Given the description of an element on the screen output the (x, y) to click on. 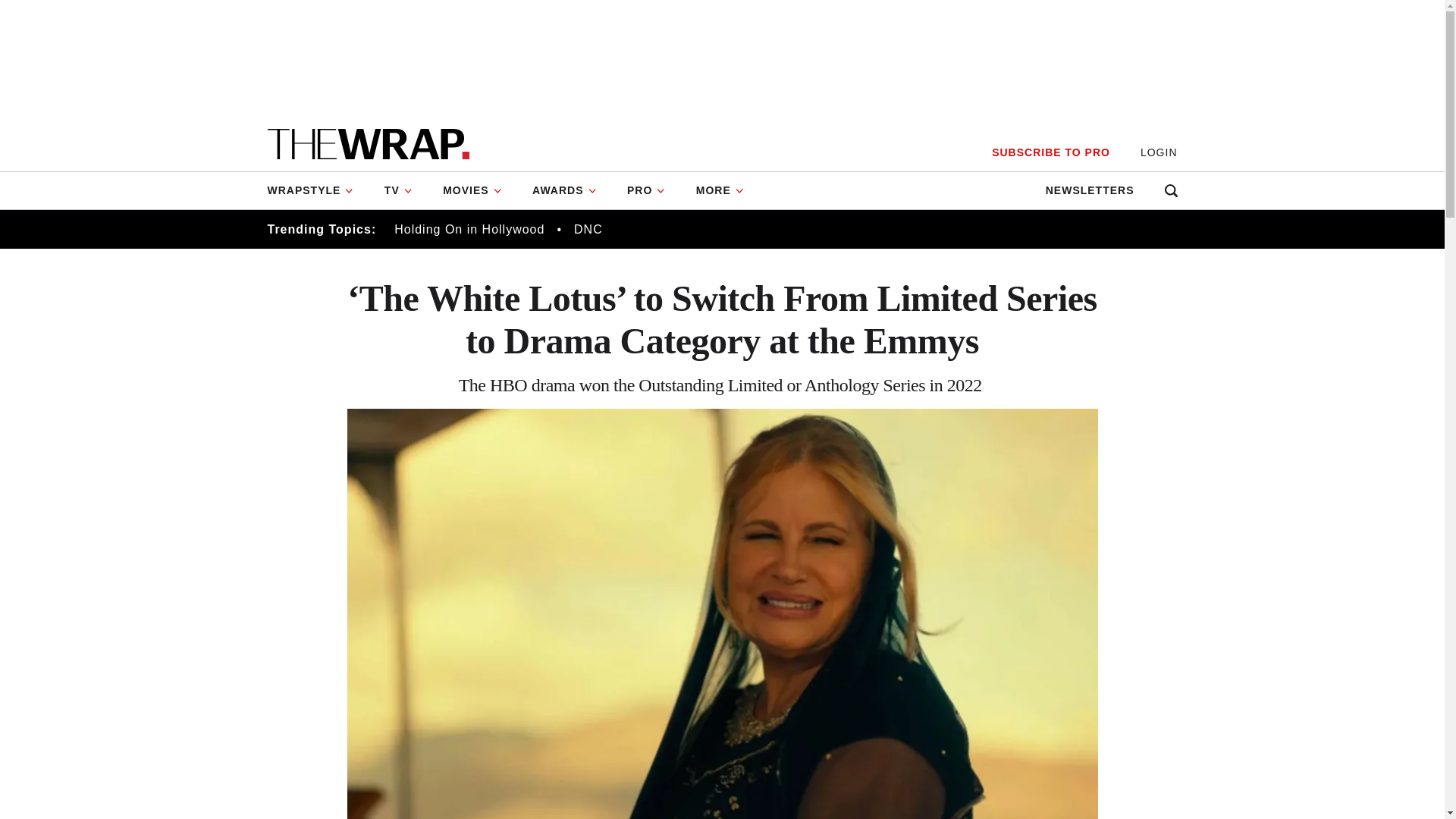
LOGIN (1158, 152)
PRO (646, 190)
TV (398, 190)
WRAPSTYLE (317, 190)
MORE (719, 190)
AWARDS (563, 190)
SUBSCRIBE TO PRO (1050, 152)
MOVIES (472, 190)
